Given the description of an element on the screen output the (x, y) to click on. 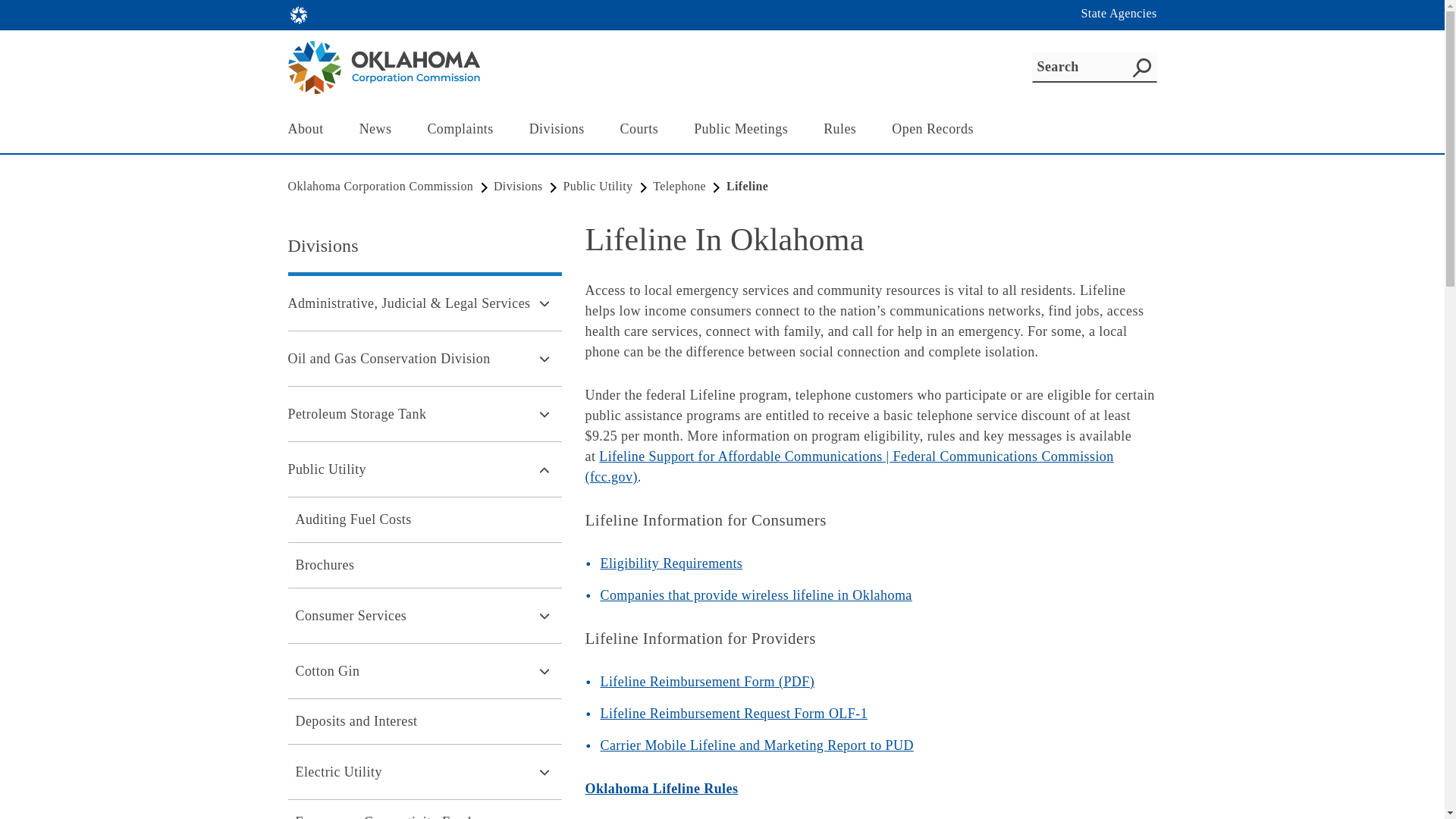
State Agencies (1119, 13)
Complaints (463, 128)
News (380, 128)
Divisions (561, 128)
Oklahoma.gov (298, 14)
About (309, 128)
